Given the description of an element on the screen output the (x, y) to click on. 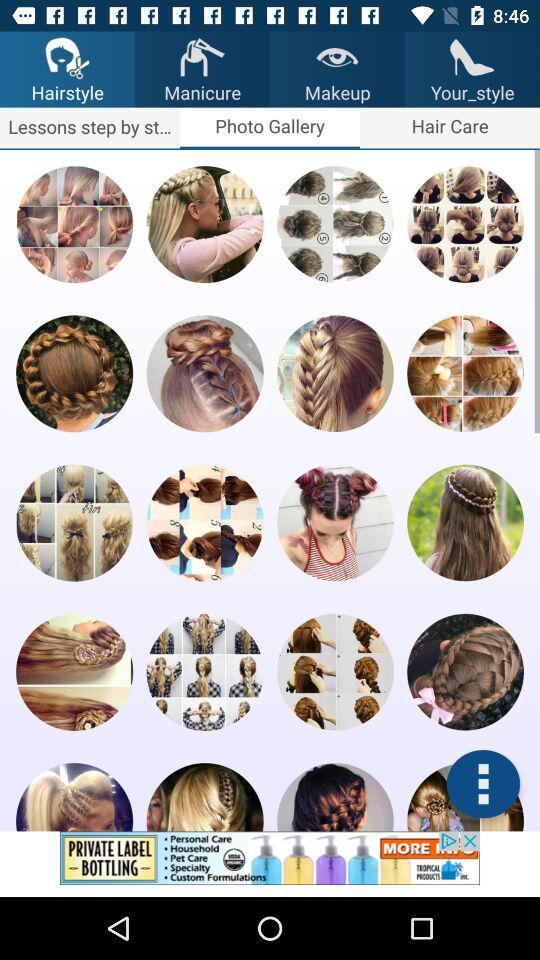
open this image (204, 522)
